Given the description of an element on the screen output the (x, y) to click on. 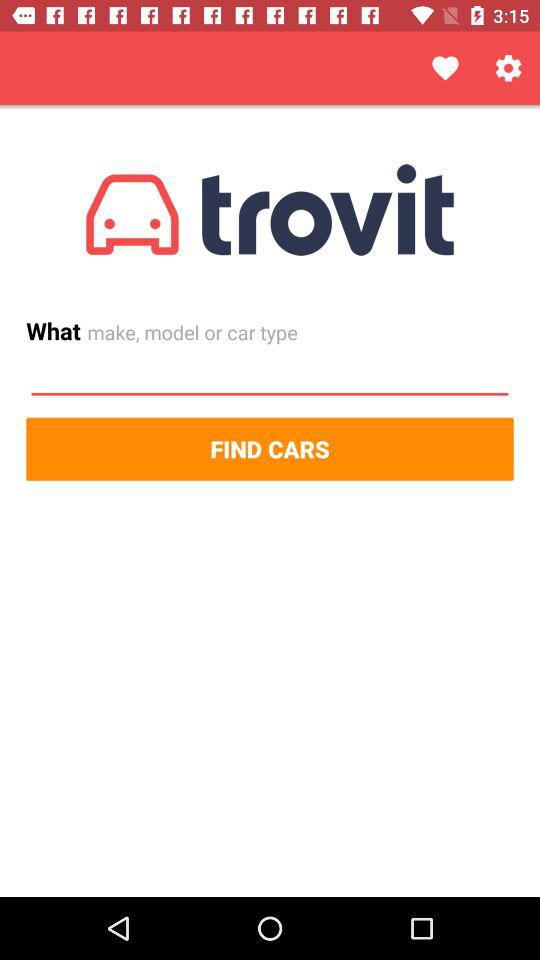
enter the car brand you wish to search (269, 375)
